Given the description of an element on the screen output the (x, y) to click on. 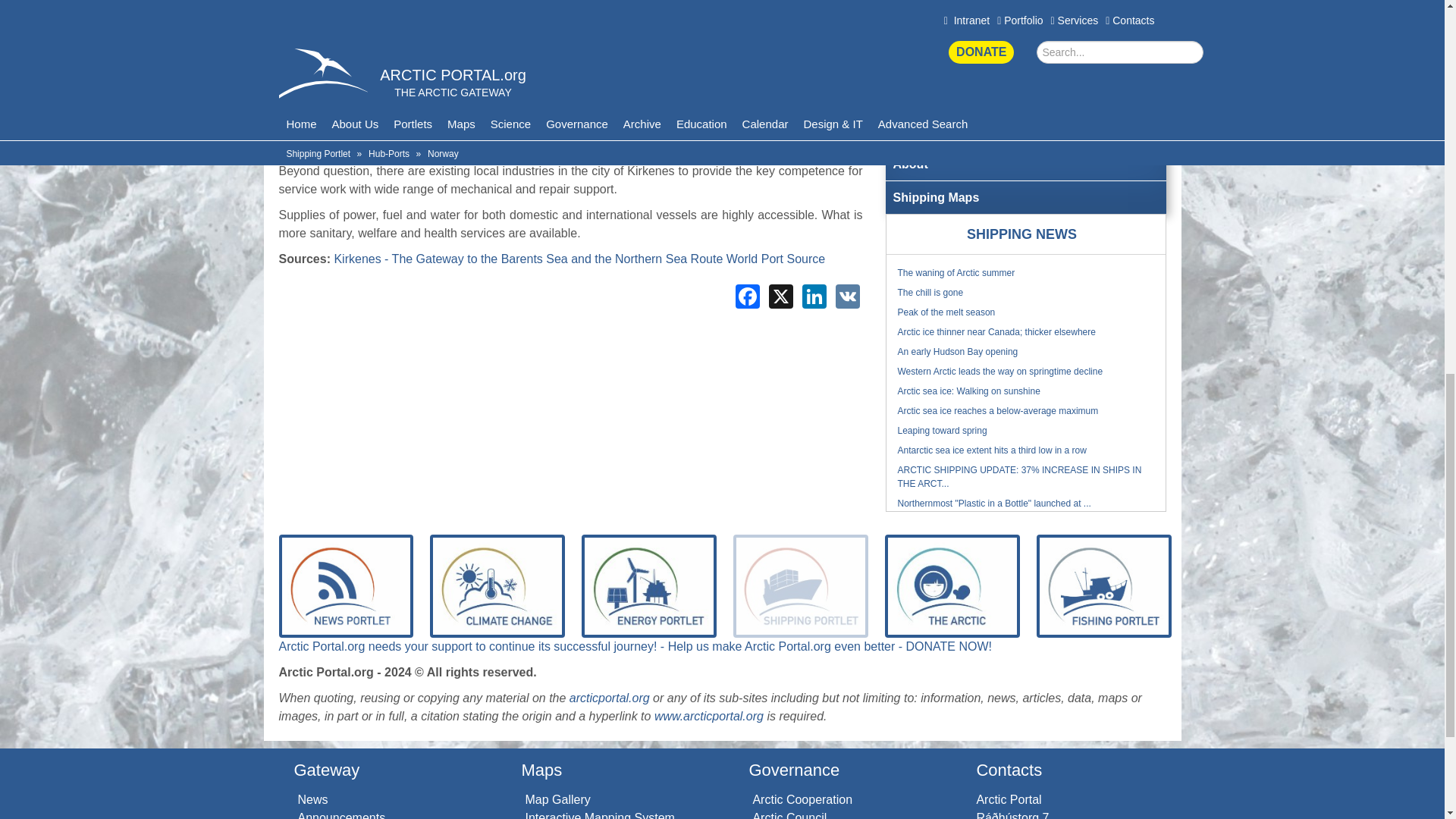
Gateway (326, 769)
News Portlet (346, 585)
Shipping Portlet (800, 585)
News (312, 799)
Energy Portlet (648, 585)
Announcements (341, 815)
Fishing Portlet (1104, 585)
The Arctic Portlet (952, 585)
